Given the description of an element on the screen output the (x, y) to click on. 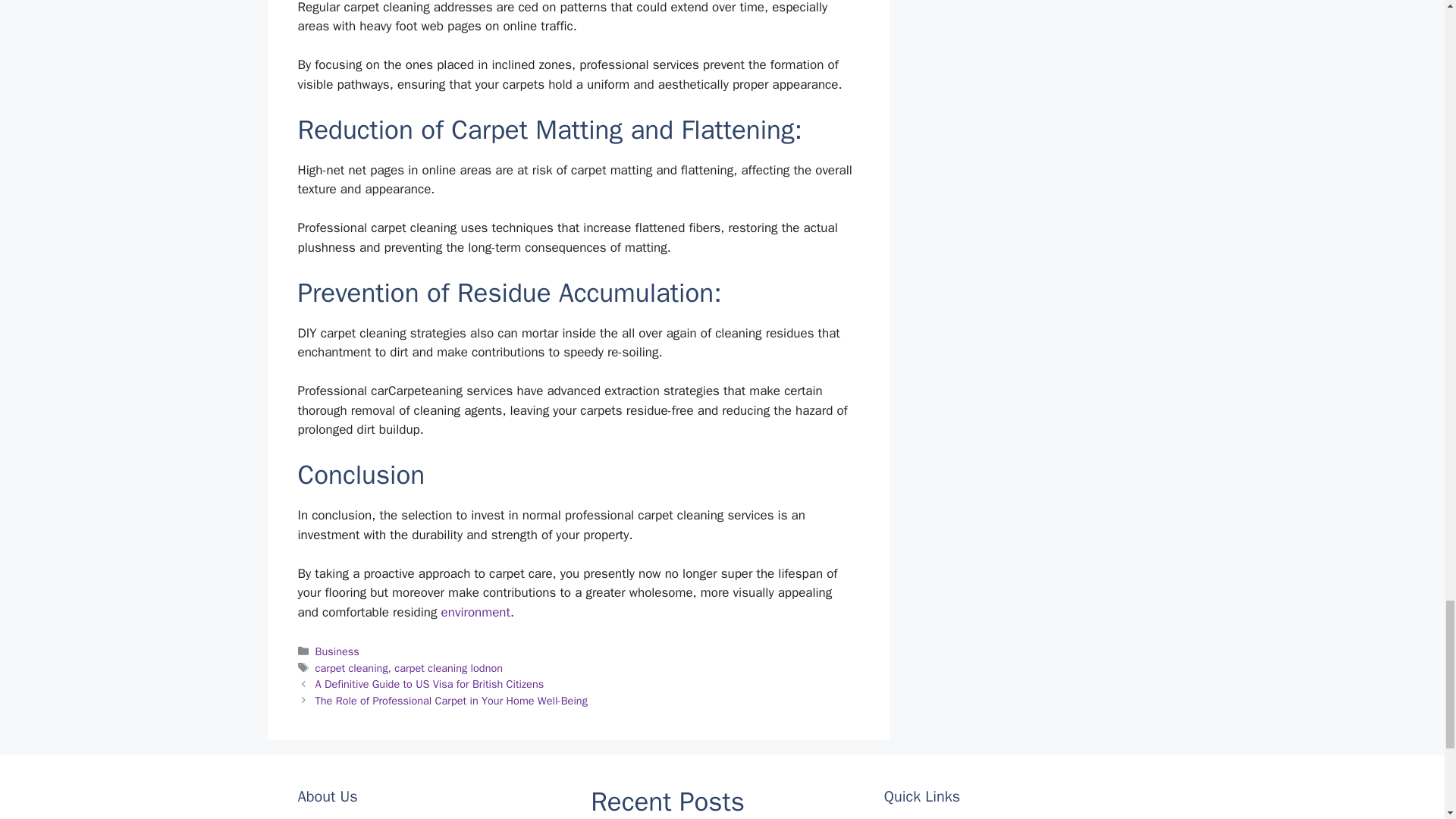
environment (476, 611)
carpet cleaning lodnon (448, 667)
The Role of Professional Carpet in Your Home Well-Being (451, 700)
carpet cleaning (351, 667)
A Definitive Guide to US Visa for British Citizens (429, 684)
Business (337, 651)
